Given the description of an element on the screen output the (x, y) to click on. 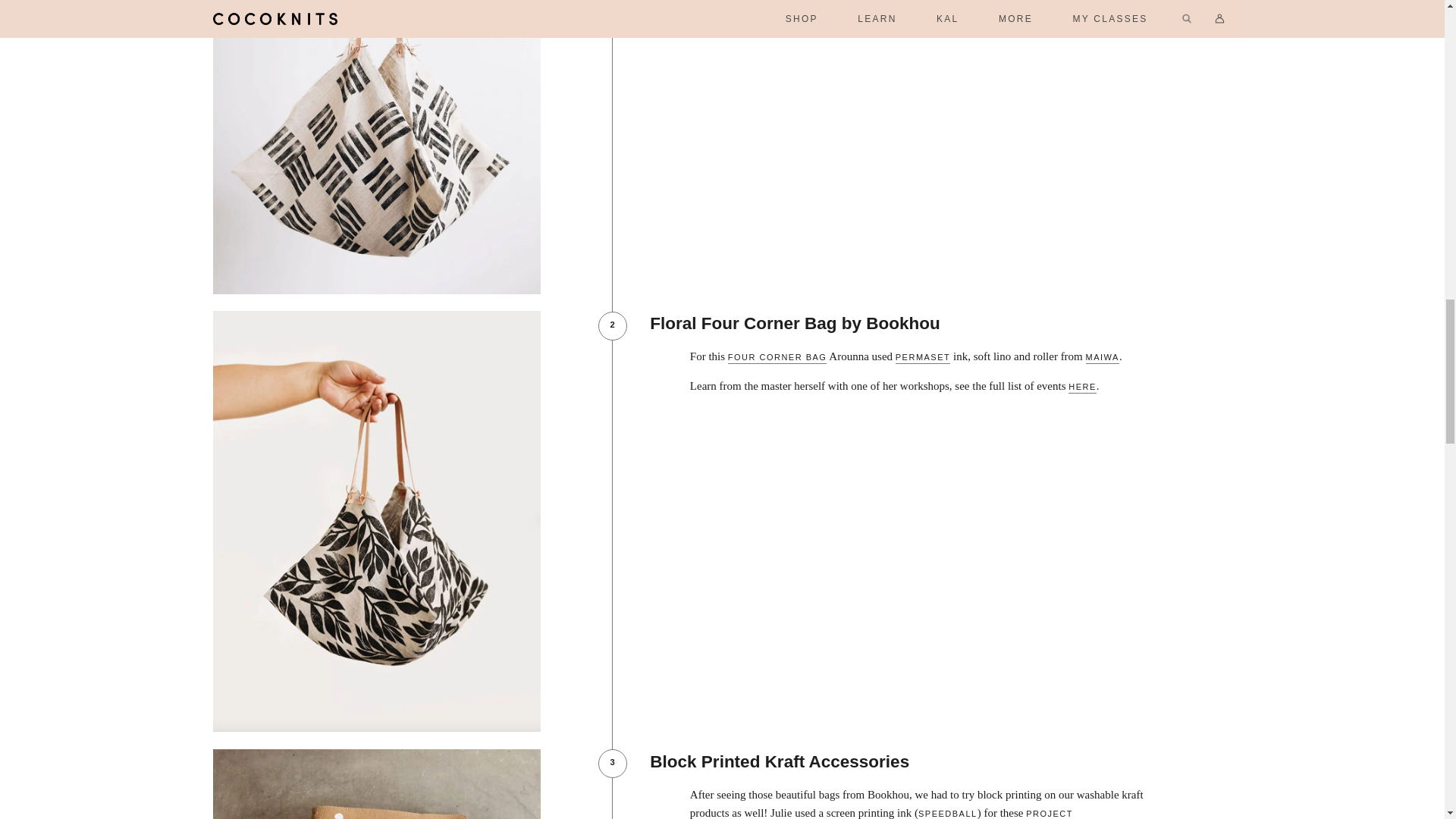
Maiwa (1102, 357)
Bookhou Workshops (1082, 387)
Permaset (922, 357)
Speedball Art Ink (947, 814)
Four Corner Bags (777, 357)
Project Portfolio (881, 814)
